Given the description of an element on the screen output the (x, y) to click on. 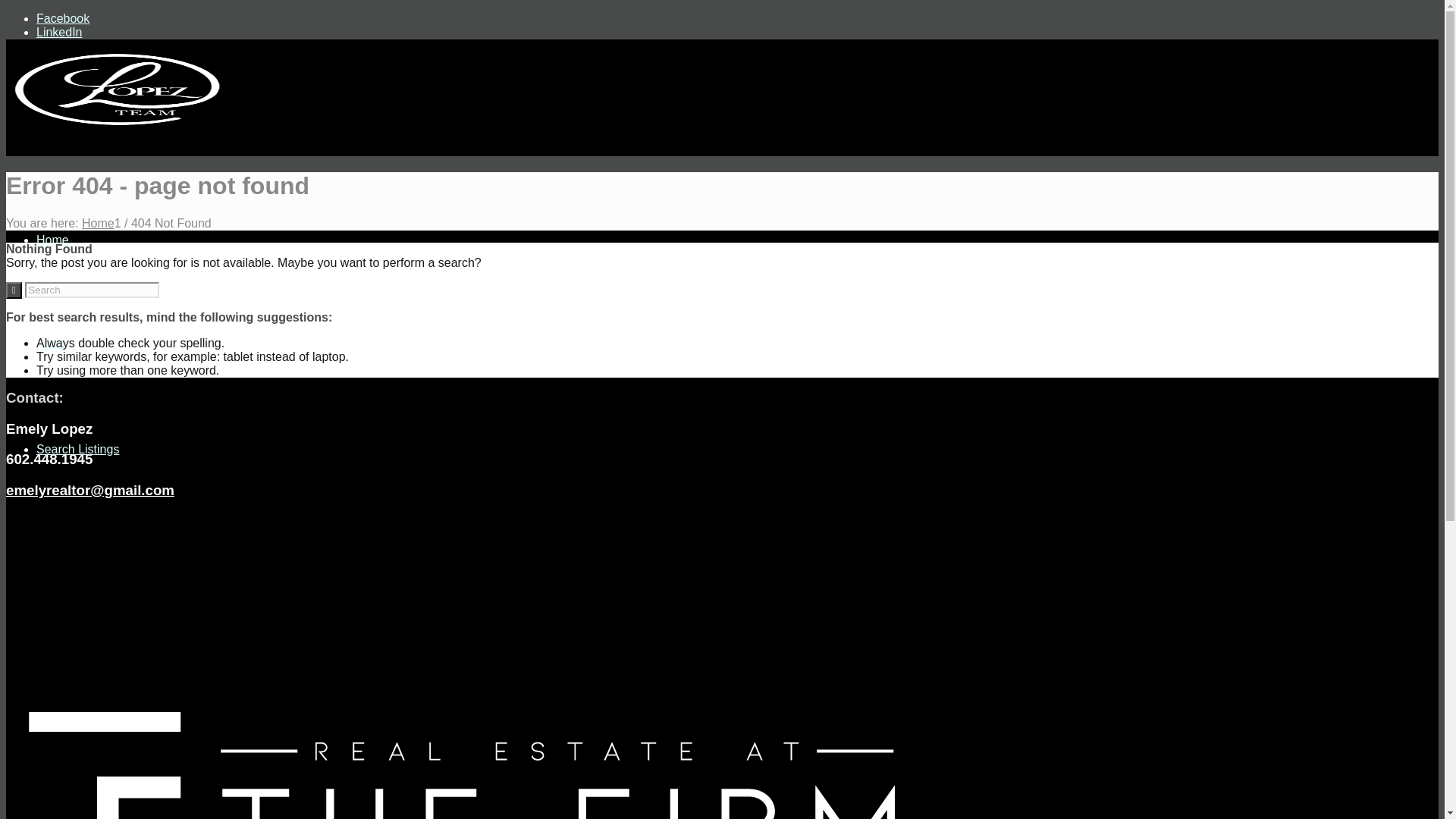
Facebook (62, 18)
Home (52, 239)
Home (98, 223)
LinkedIn (59, 31)
Home Valuation (79, 553)
Facebook (62, 18)
LinkedIn (59, 31)
The Lopez Team Real Estate (98, 223)
Search Listings (77, 449)
Search (55, 658)
Menu Menu (68, 762)
About (52, 344)
